Given the description of an element on the screen output the (x, y) to click on. 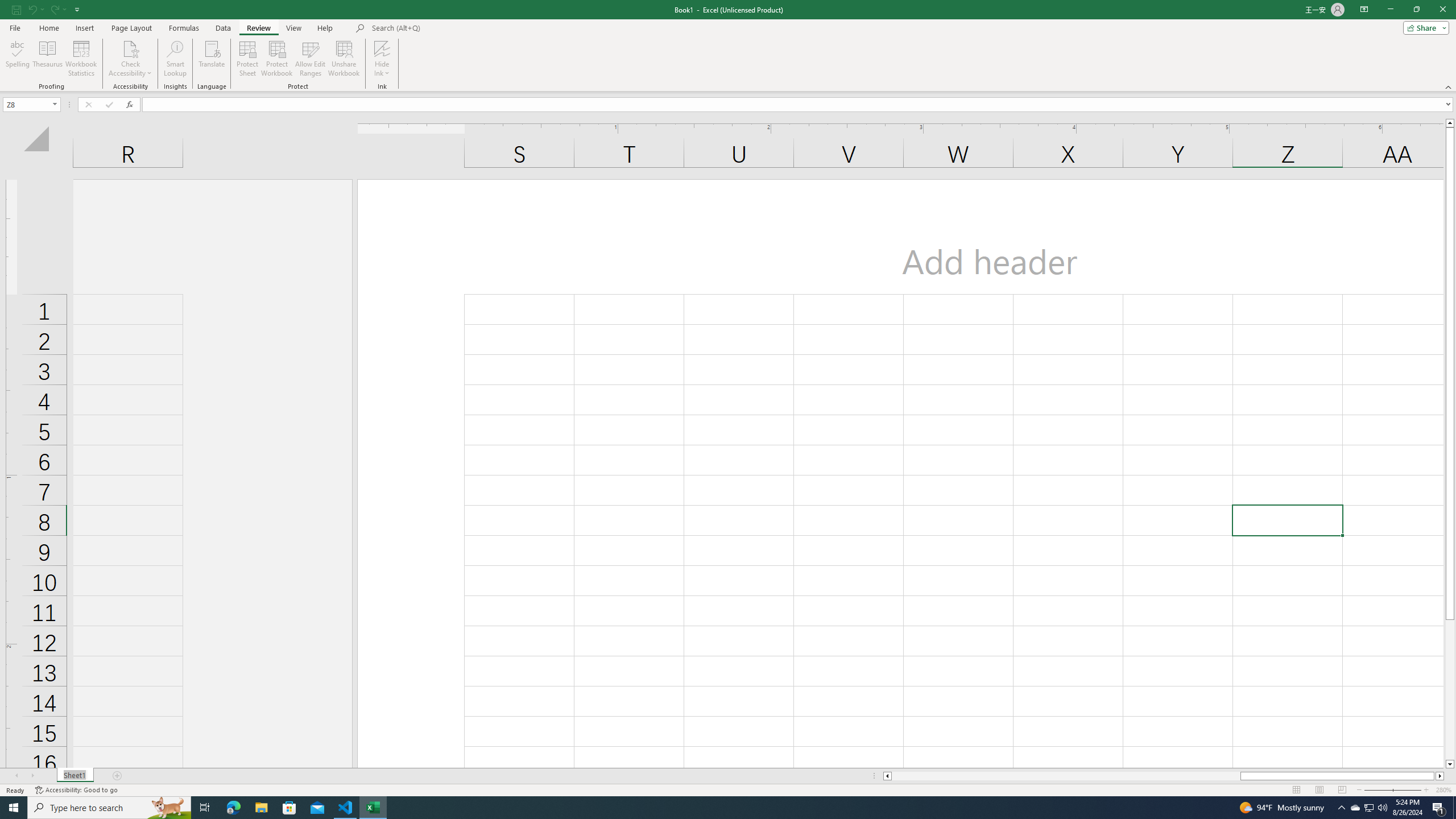
Unshare Workbook (344, 58)
Protect Workbook... (277, 58)
